Given the description of an element on the screen output the (x, y) to click on. 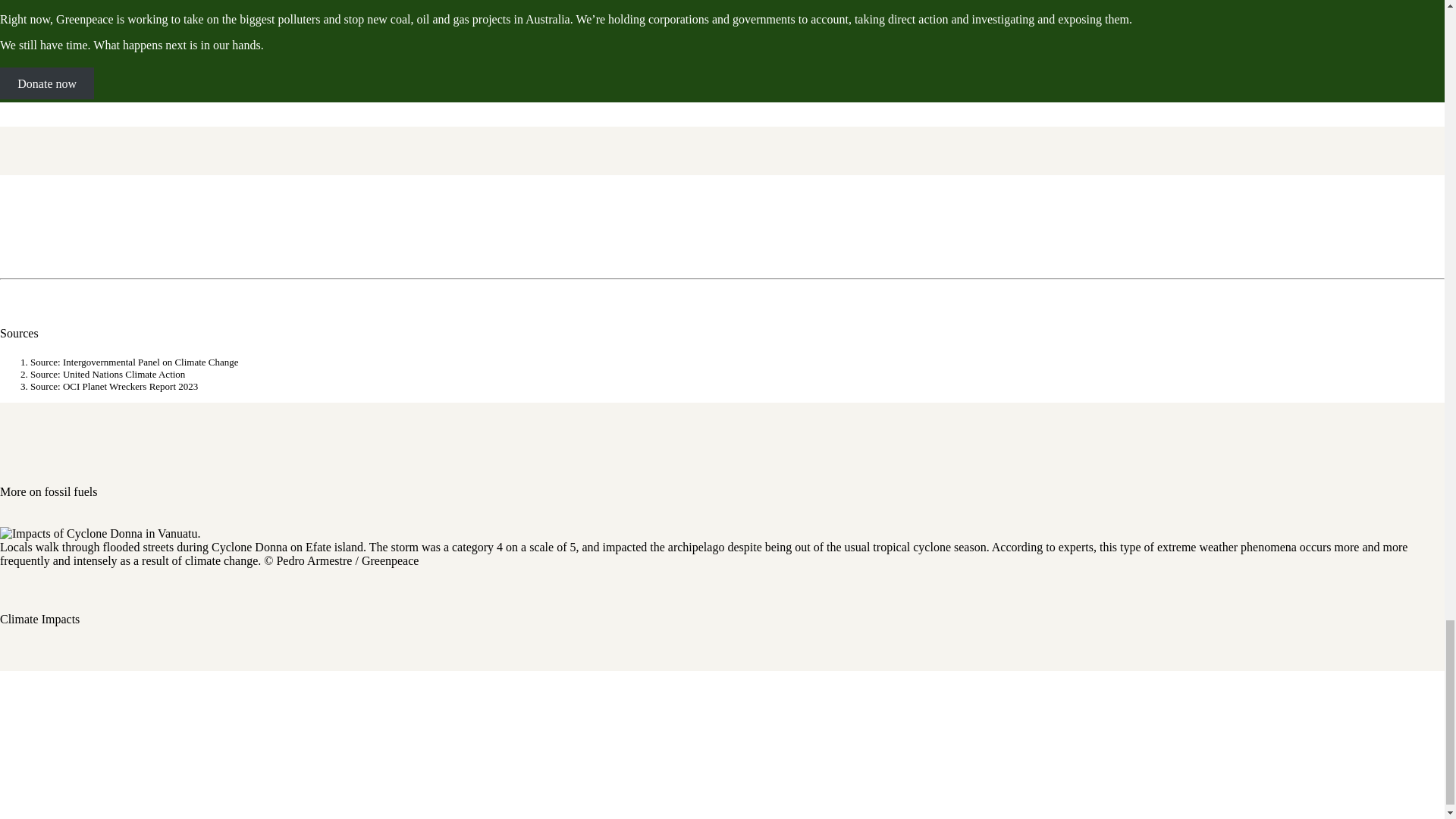
Impacts of Cyclone Donna in Vanuatu. (100, 533)
